Given the description of an element on the screen output the (x, y) to click on. 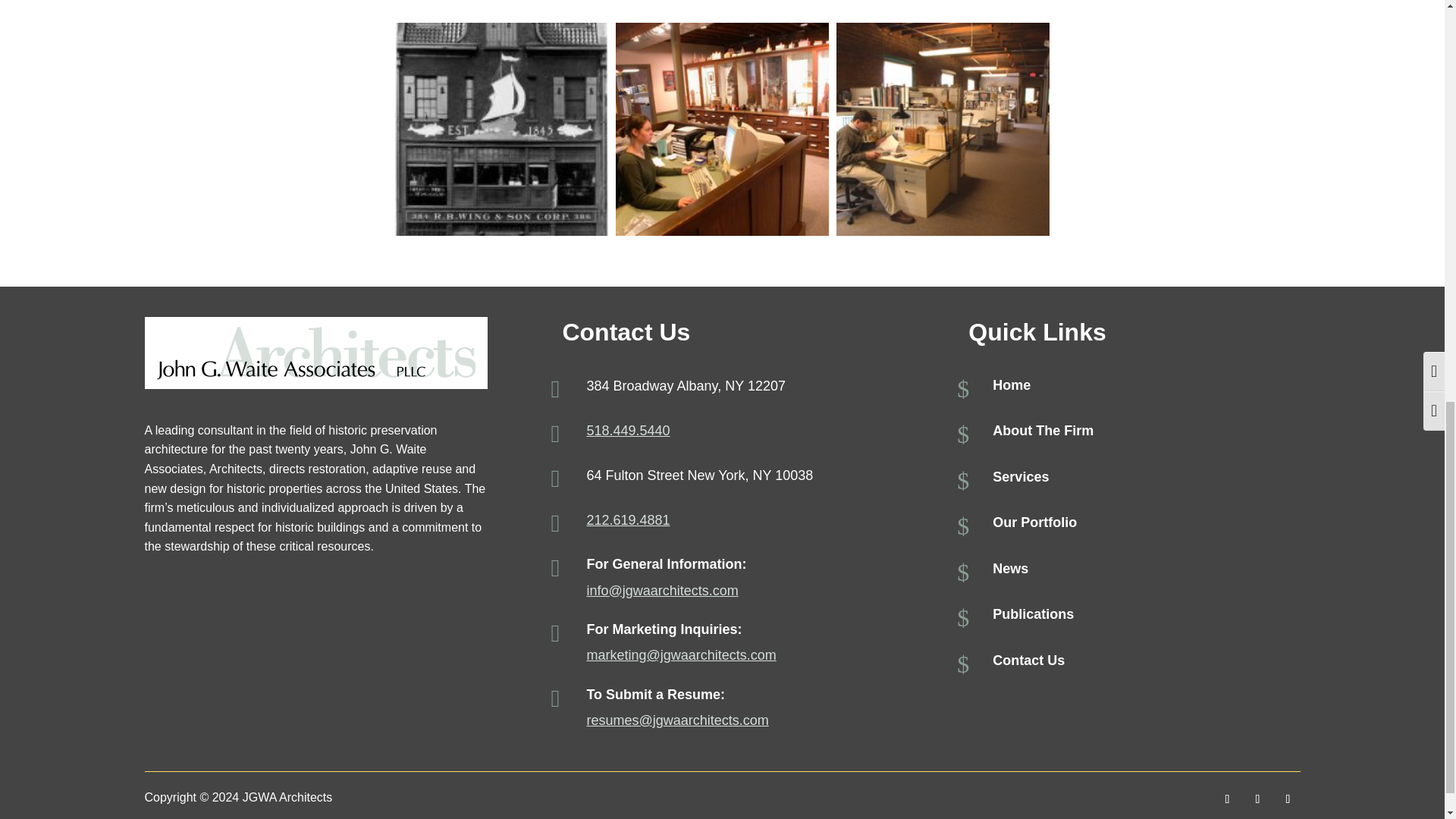
Open image (942, 128)
Open image (500, 128)
Open image (721, 128)
